Given the description of an element on the screen output the (x, y) to click on. 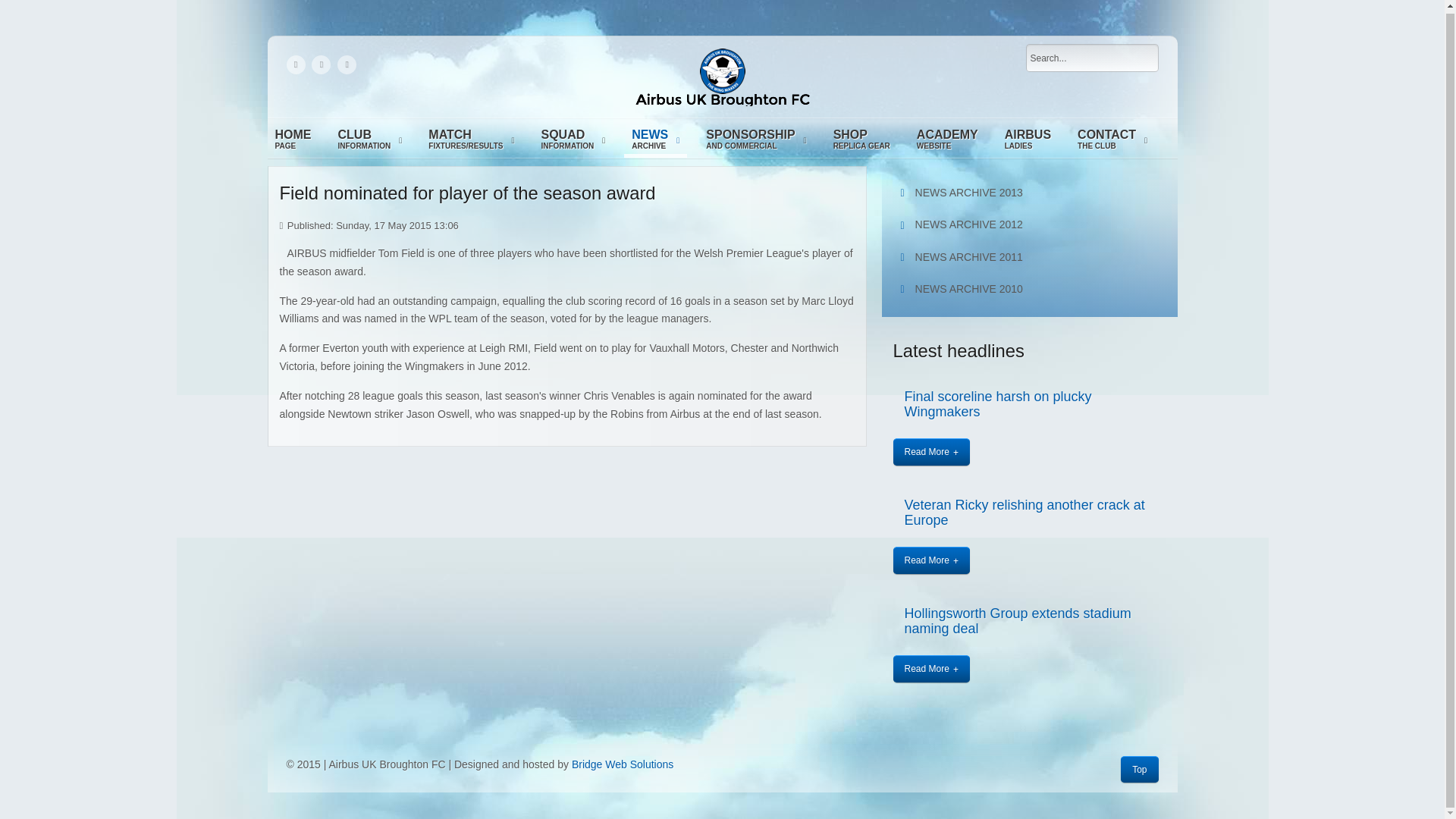
Search... (1091, 58)
NEWS ARCHIVE 2012 (572, 140)
Hollingsworth Group extends stadium naming deal (1027, 140)
NEWS ARCHIVE 2010 (1029, 224)
Read More (1017, 621)
Bridge Web Solutions (1112, 140)
Read More (1029, 288)
